Given the description of an element on the screen output the (x, y) to click on. 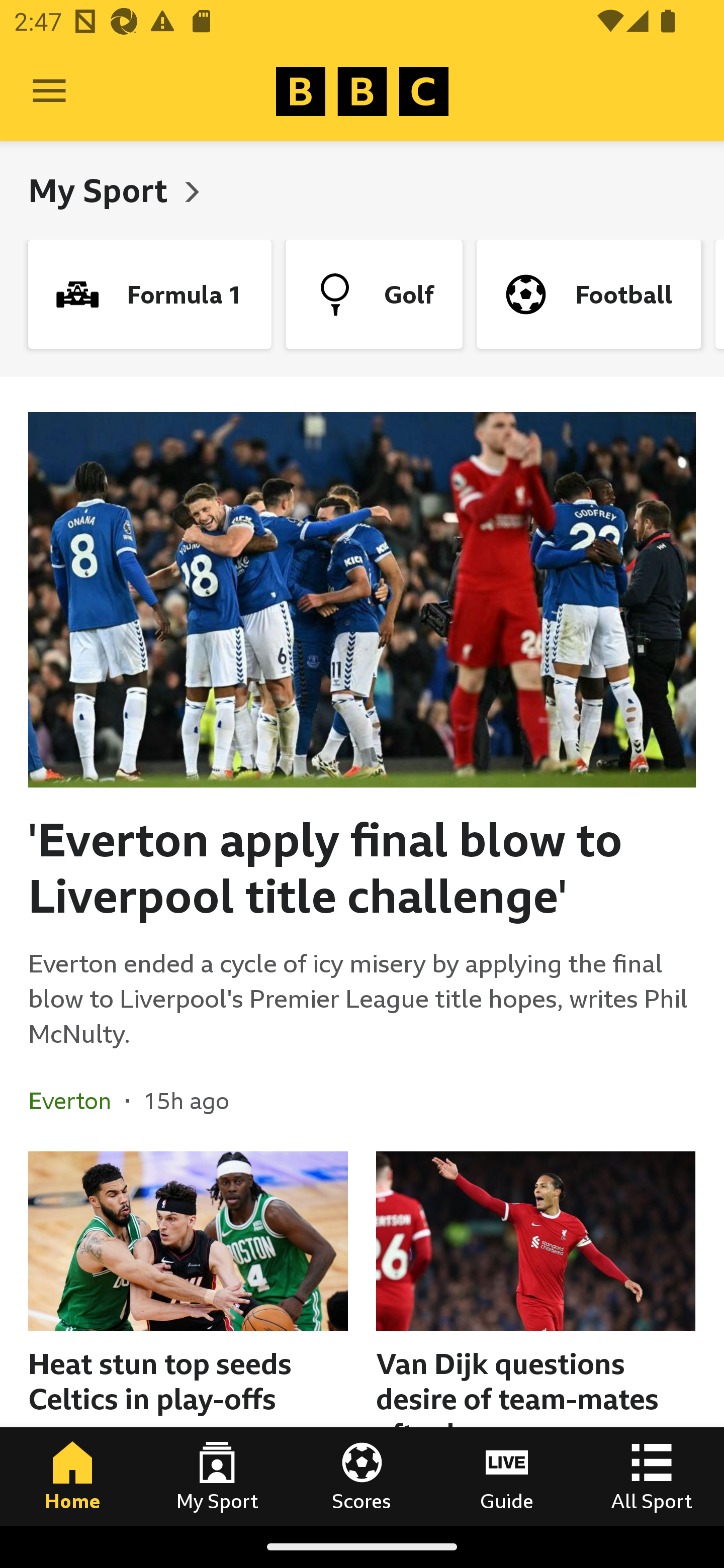
Open Menu (49, 91)
My Sport (101, 190)
Everton In the section Everton (76, 1100)
My Sport (216, 1475)
Scores (361, 1475)
Guide (506, 1475)
All Sport (651, 1475)
